Given the description of an element on the screen output the (x, y) to click on. 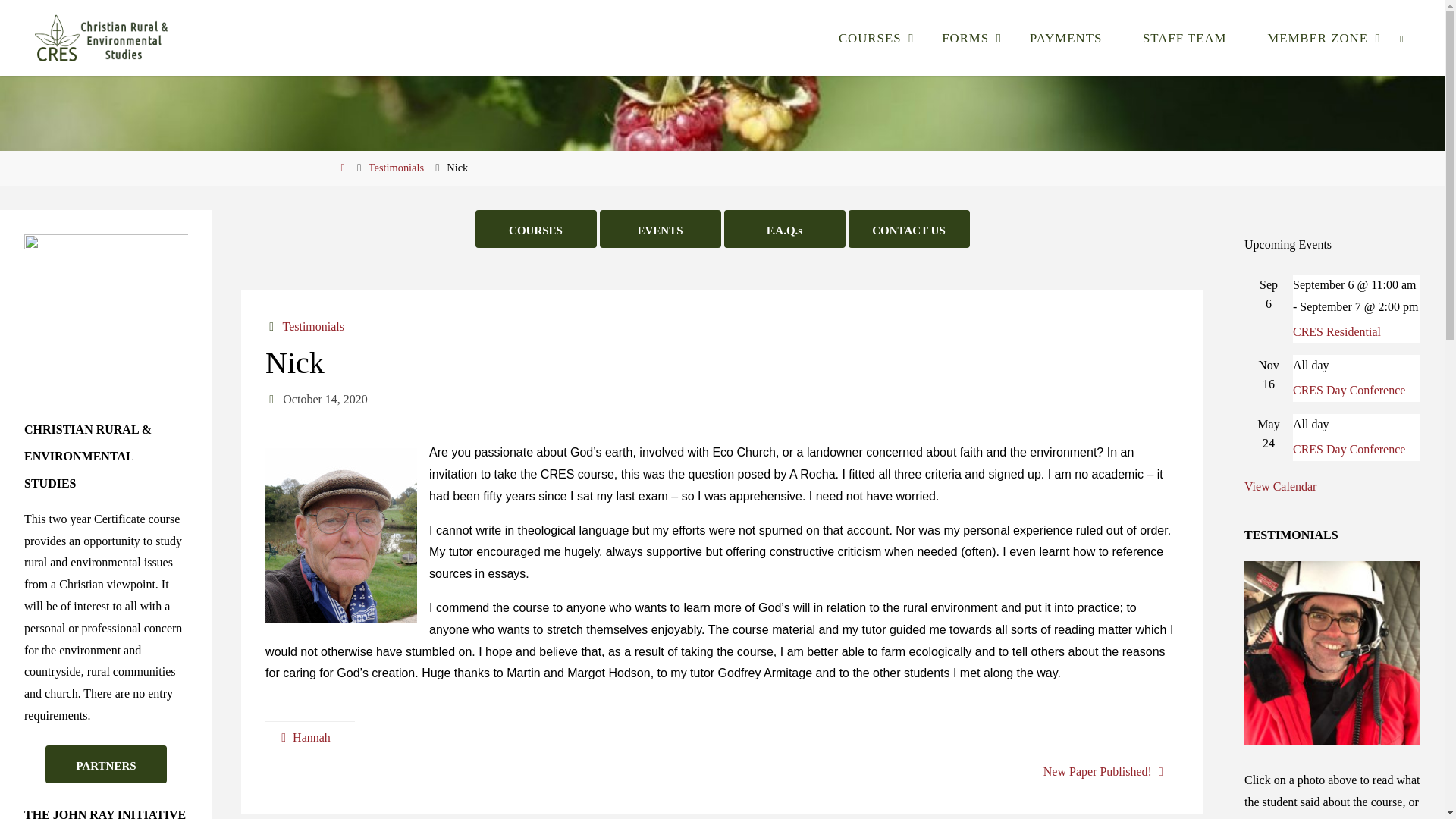
CRES Day Conference (1348, 449)
CRES (208, 51)
COURSES (869, 38)
PAYMENTS (1065, 38)
MEMBER ZONE (1316, 38)
STAFF TEAM (1184, 38)
CRES Day Conference (1348, 390)
CRES (208, 51)
CRES Residential (1336, 331)
View more events. (1280, 486)
